Given the description of an element on the screen output the (x, y) to click on. 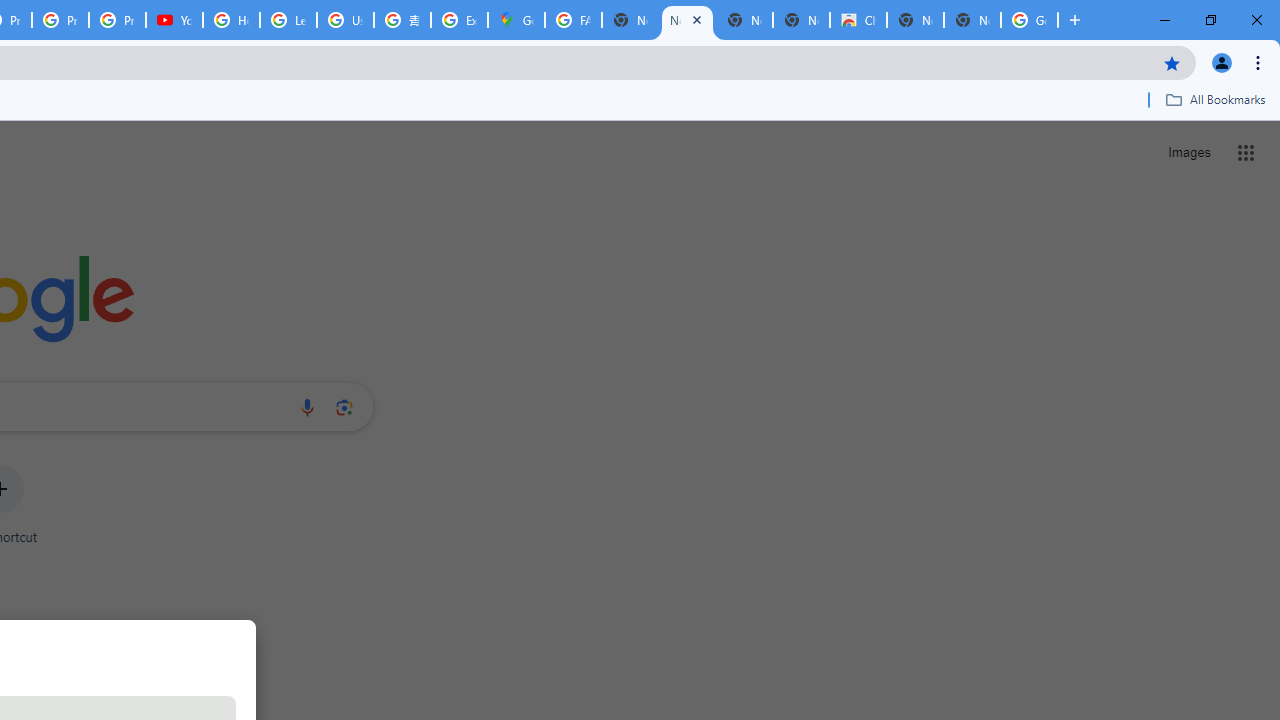
How Chrome protects your passwords - Google Chrome Help (231, 20)
Explore new street-level details - Google Maps Help (459, 20)
Chrome Web Store (858, 20)
YouTube (174, 20)
